Given the description of an element on the screen output the (x, y) to click on. 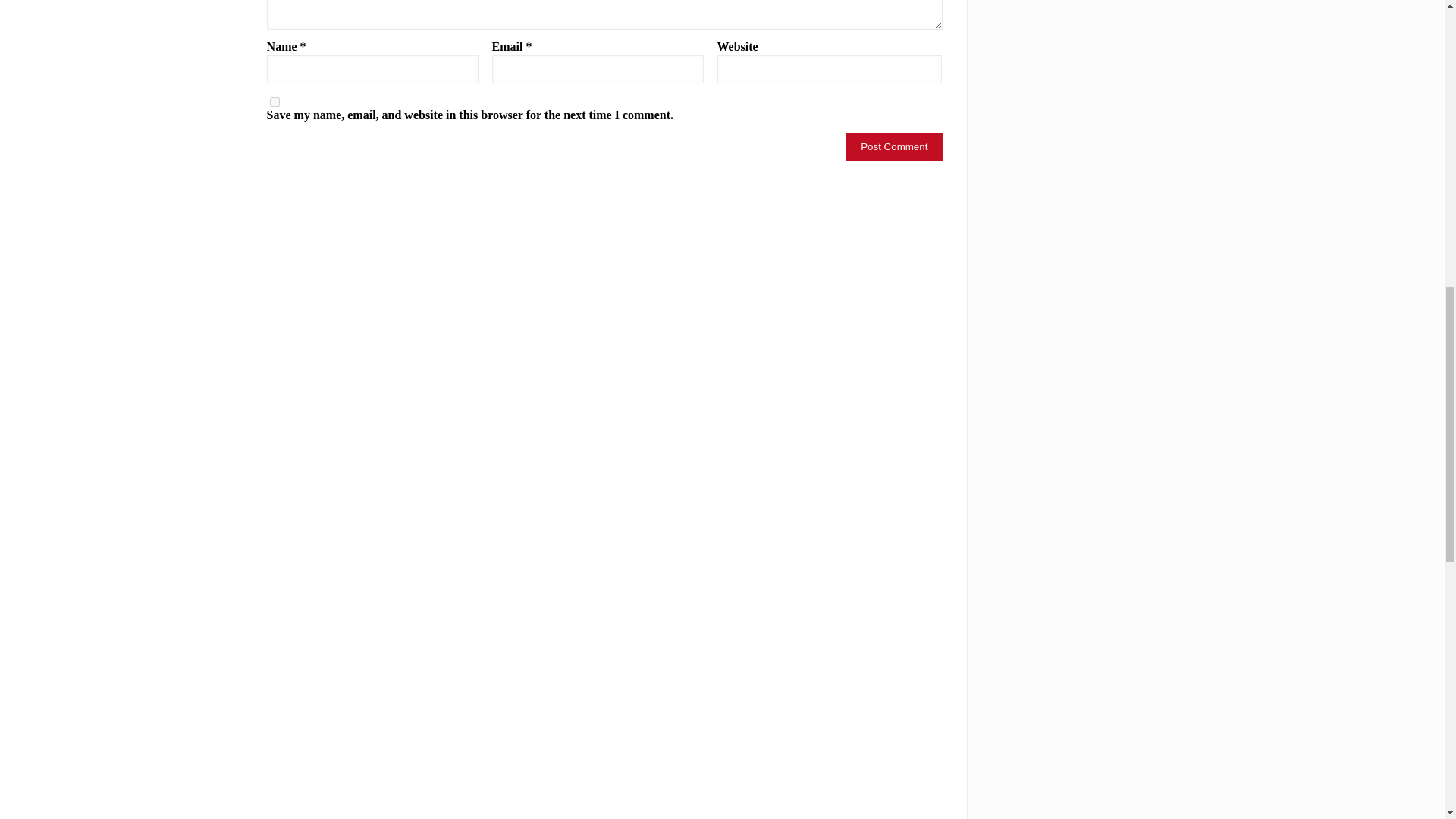
yes (274, 102)
Post Comment (893, 146)
Post Comment (893, 146)
